Given the description of an element on the screen output the (x, y) to click on. 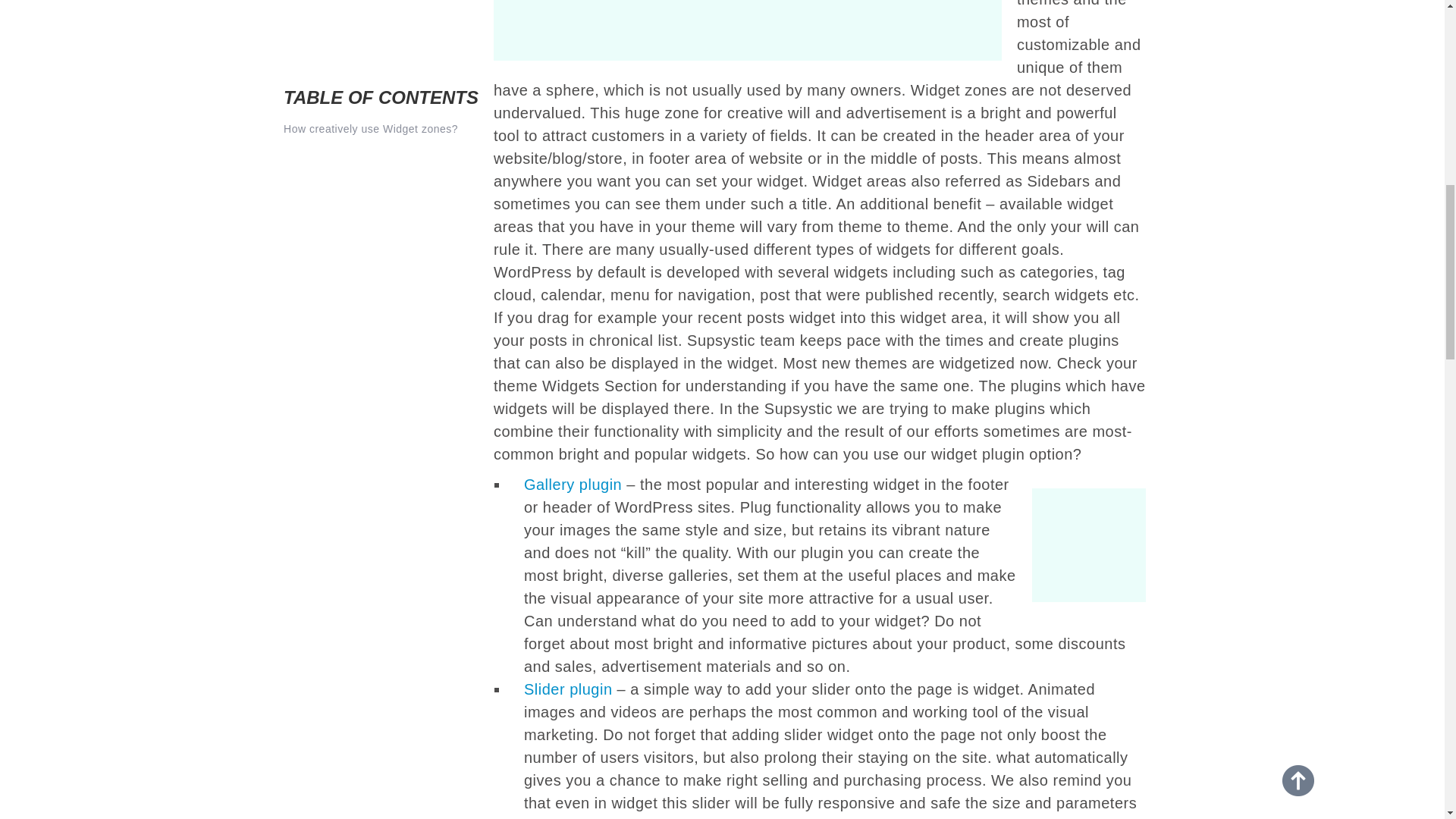
Slider plugin (568, 688)
Gallery plugin (572, 484)
Gallery plugin by Supsystic (1080, 544)
Supsystic plugins (754, 30)
